Given the description of an element on the screen output the (x, y) to click on. 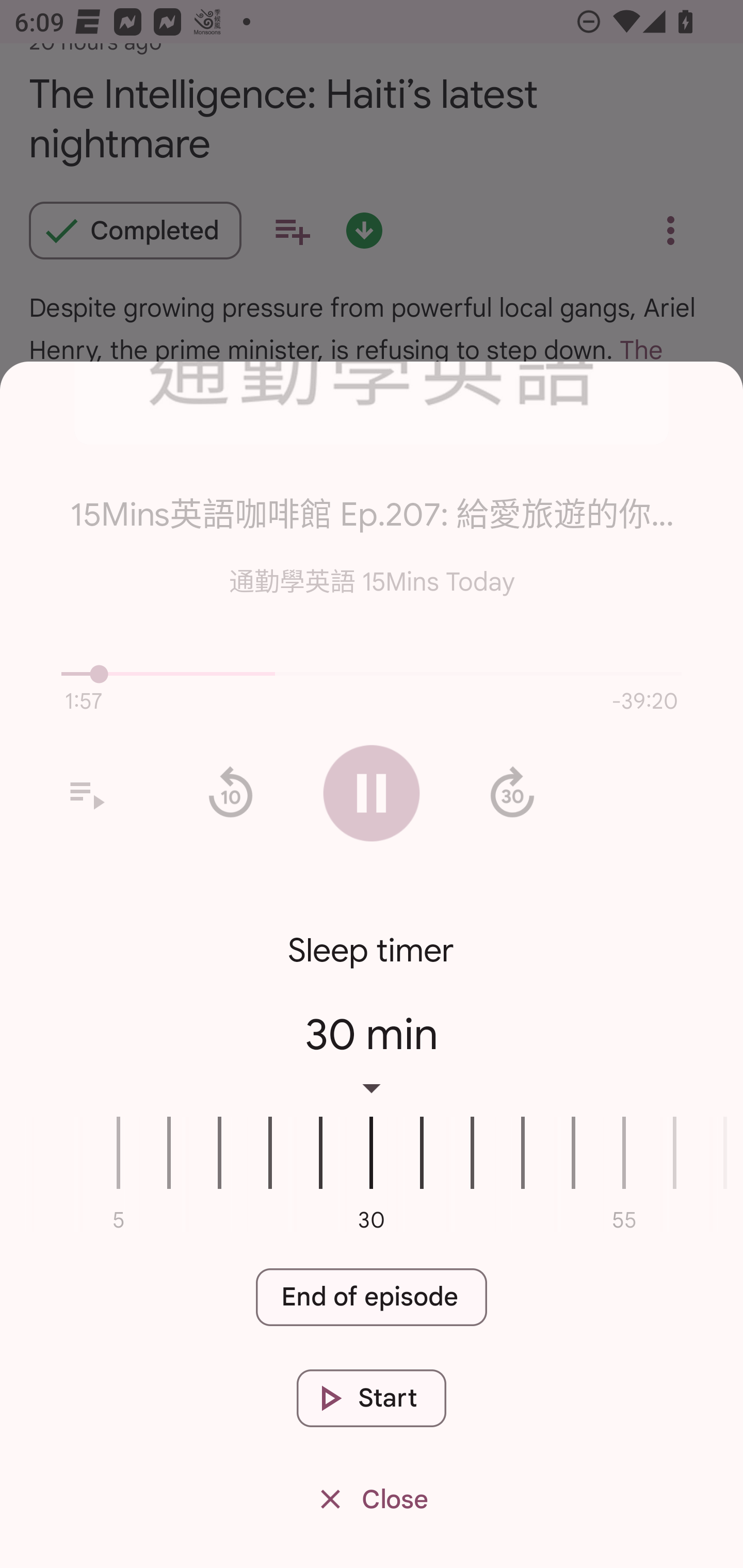
473.0 Current episode playback (371, 674)
Pause (371, 793)
View your queue (86, 793)
Rewind 10 seconds (230, 793)
Fast forward 30 second (511, 793)
End of episode (371, 1297)
Start (371, 1397)
Close (371, 1499)
